Given the description of an element on the screen output the (x, y) to click on. 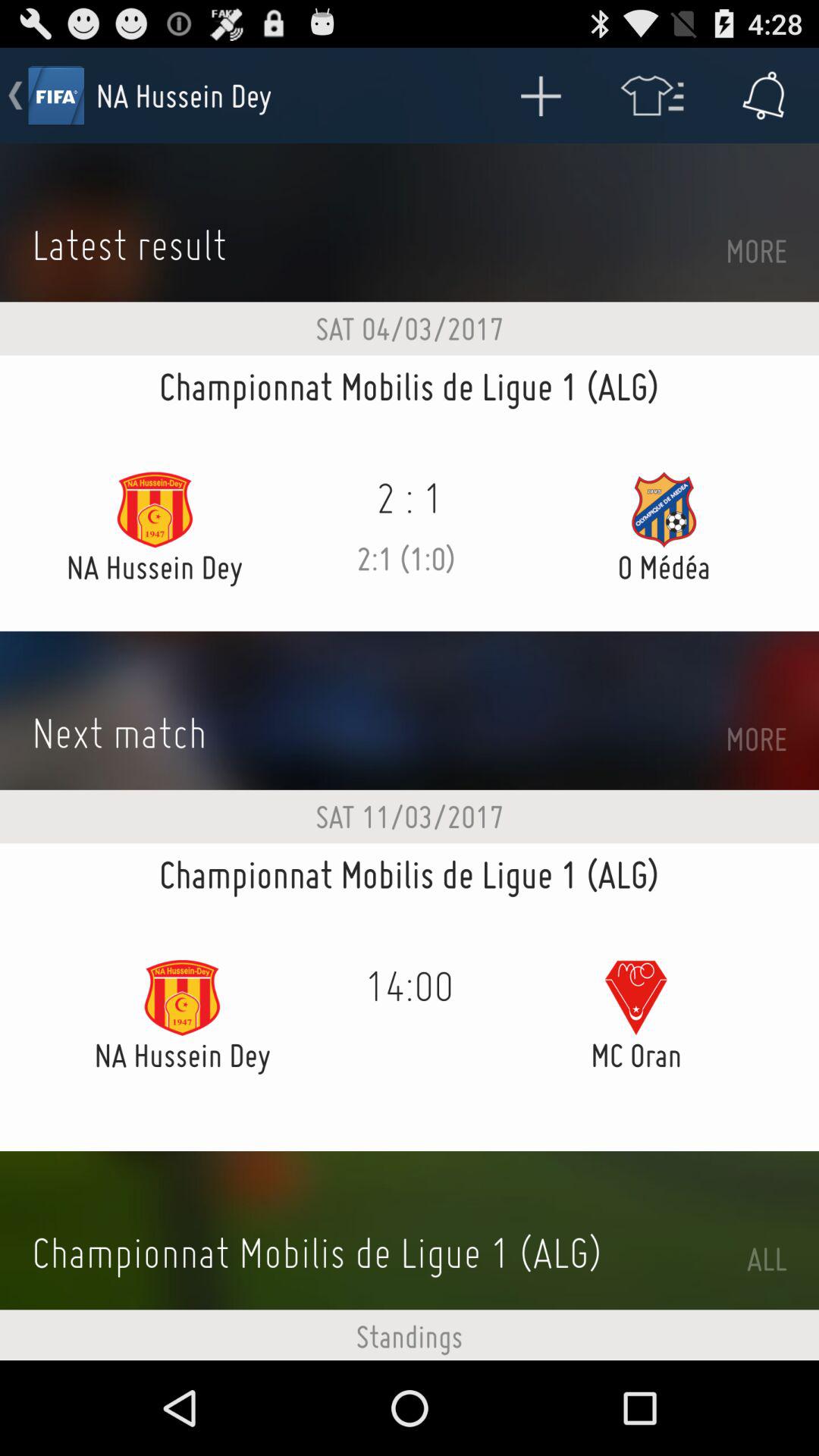
launch the item above the sat 04 03 (540, 95)
